Given the description of an element on the screen output the (x, y) to click on. 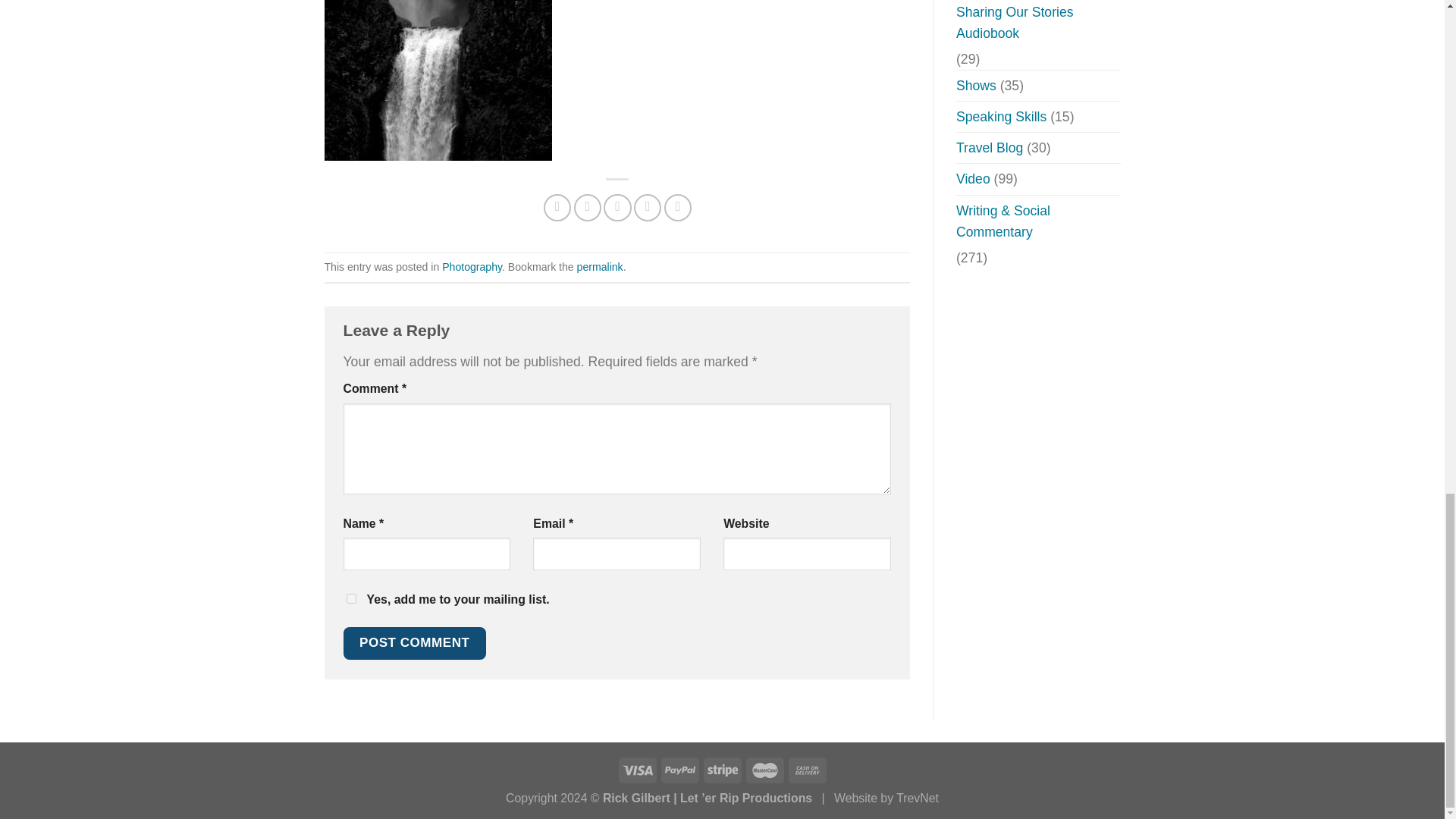
Post Comment (413, 643)
Share on Twitter (587, 207)
Permalink to DSCN0052 copy.jpg (599, 266)
permalink (599, 266)
Pin on Pinterest (647, 207)
Email to a Friend (617, 207)
Share on LinkedIn (677, 207)
Photography (472, 266)
Share on Facebook (556, 207)
1 (350, 598)
